Given the description of an element on the screen output the (x, y) to click on. 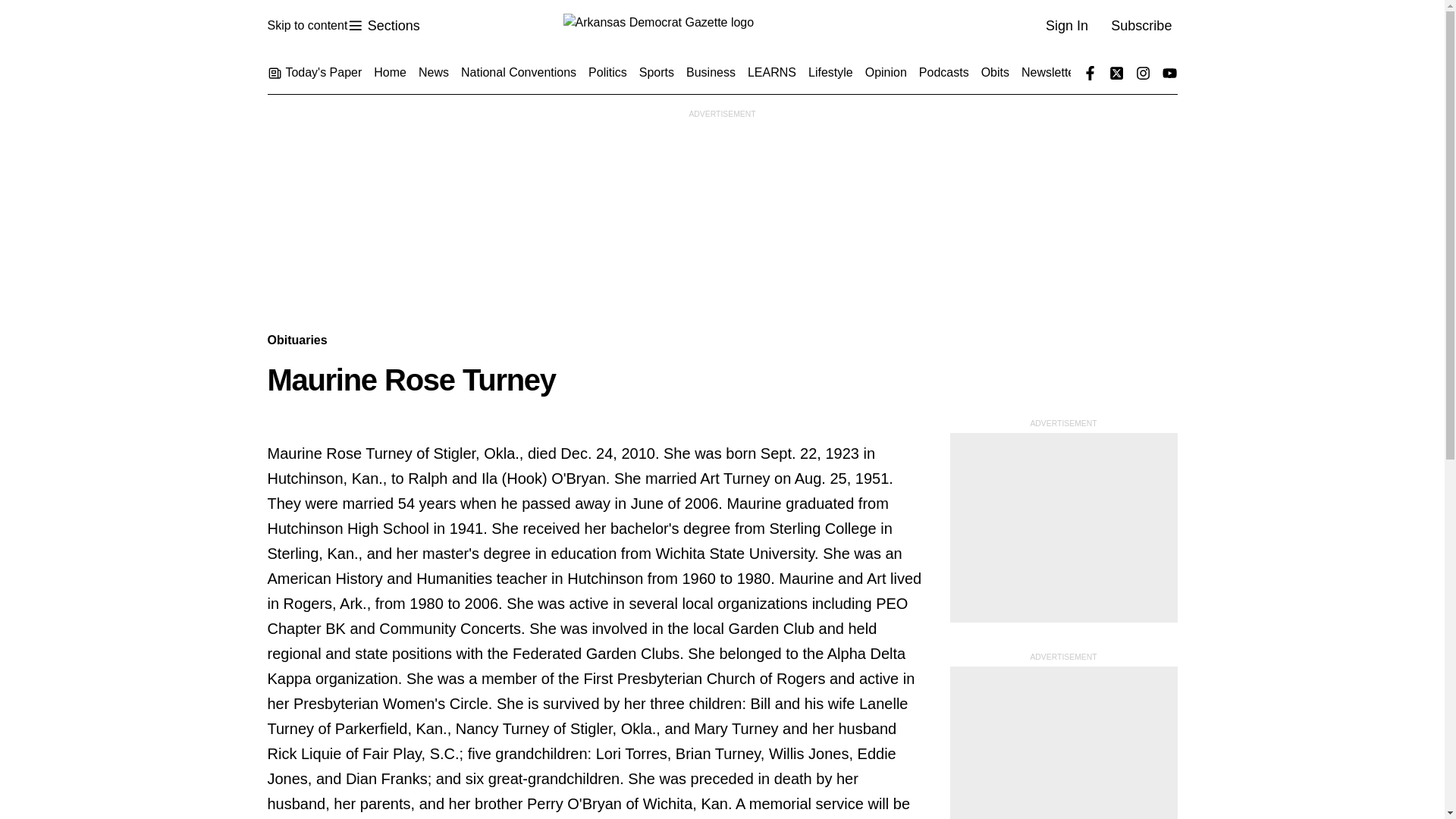
Arkansas Democrat Gazette (383, 25)
Skip to content (721, 25)
